Given the description of an element on the screen output the (x, y) to click on. 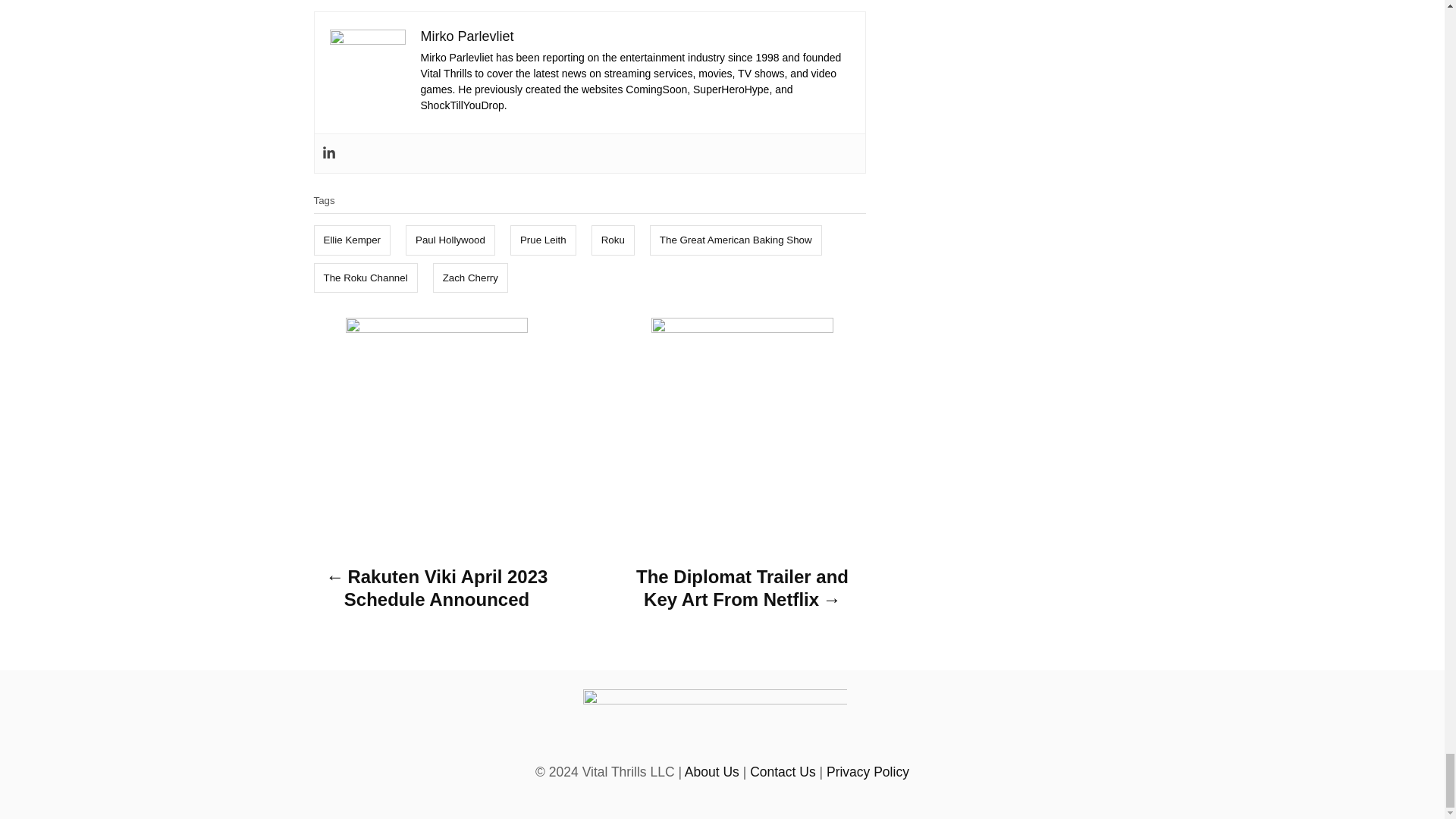
Rakuten Viki April 2023 Schedule Announced (437, 592)
Prue Leith (543, 240)
The Diplomat Trailer and Key Art From Netflix (741, 592)
The Roku Channel (365, 277)
Paul Hollywood (450, 240)
Ellie Kemper (352, 240)
Roku (612, 240)
Mirko Parlevliet (466, 36)
The Great American Baking Show (735, 240)
Zach Cherry (470, 277)
